Given the description of an element on the screen output the (x, y) to click on. 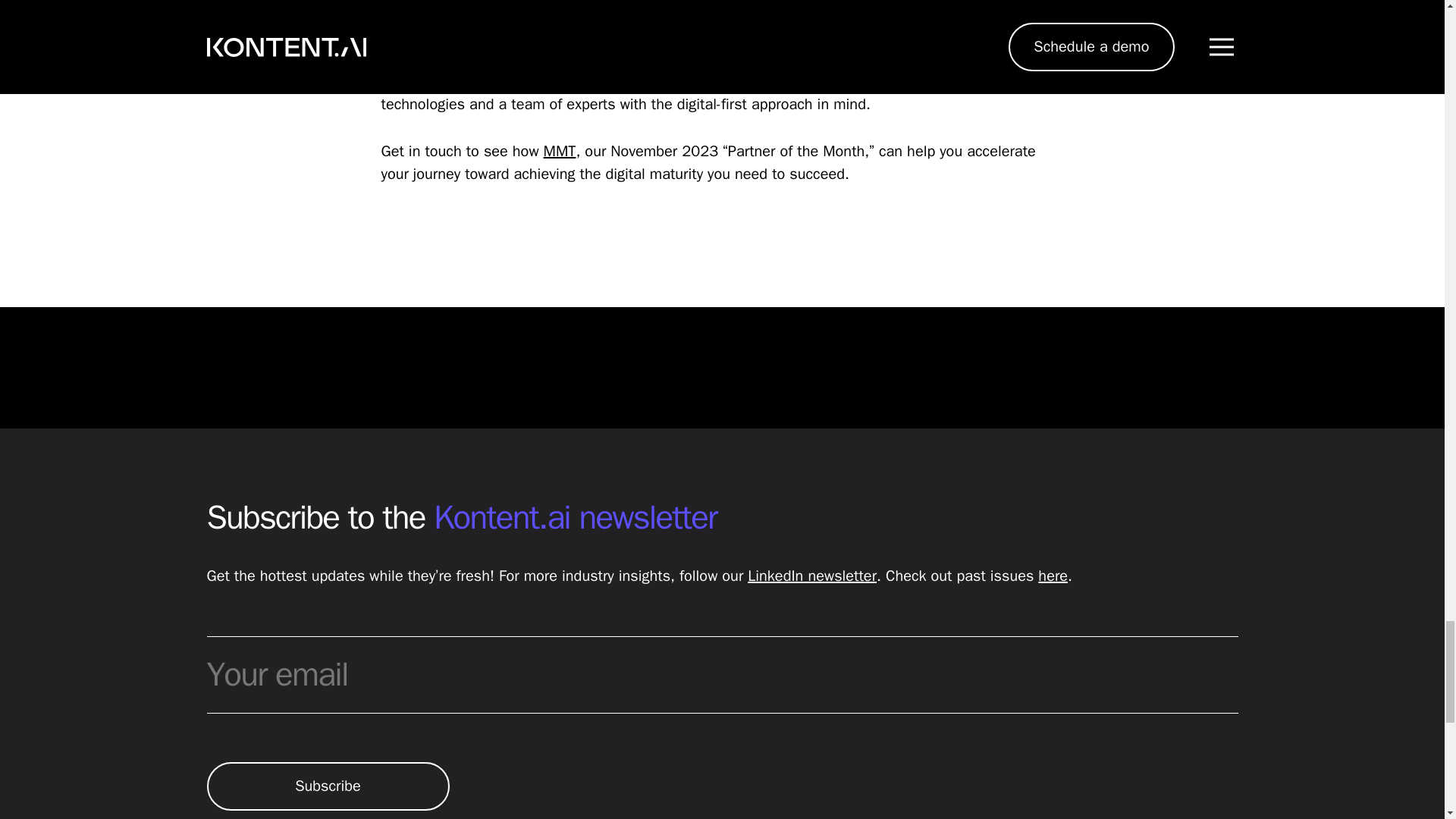
MMT (559, 150)
LinkedIn newsletter (812, 575)
